Given the description of an element on the screen output the (x, y) to click on. 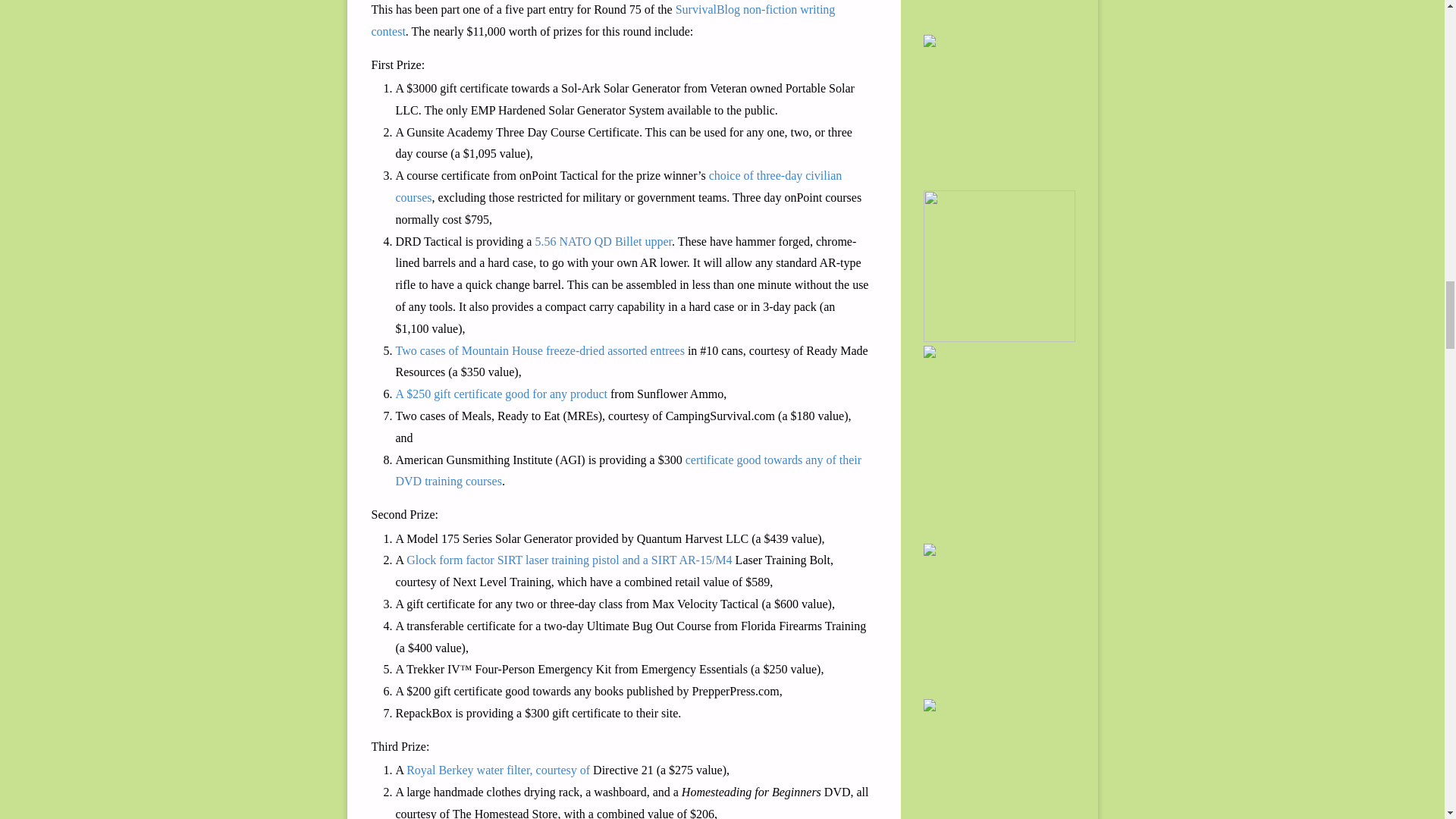
onPoint Tactical (619, 185)
American Gunsmithing Institute (628, 470)
Sunflower Ammo (501, 393)
DRD Tactical (602, 241)
Ready Made Resources (540, 350)
